Given the description of an element on the screen output the (x, y) to click on. 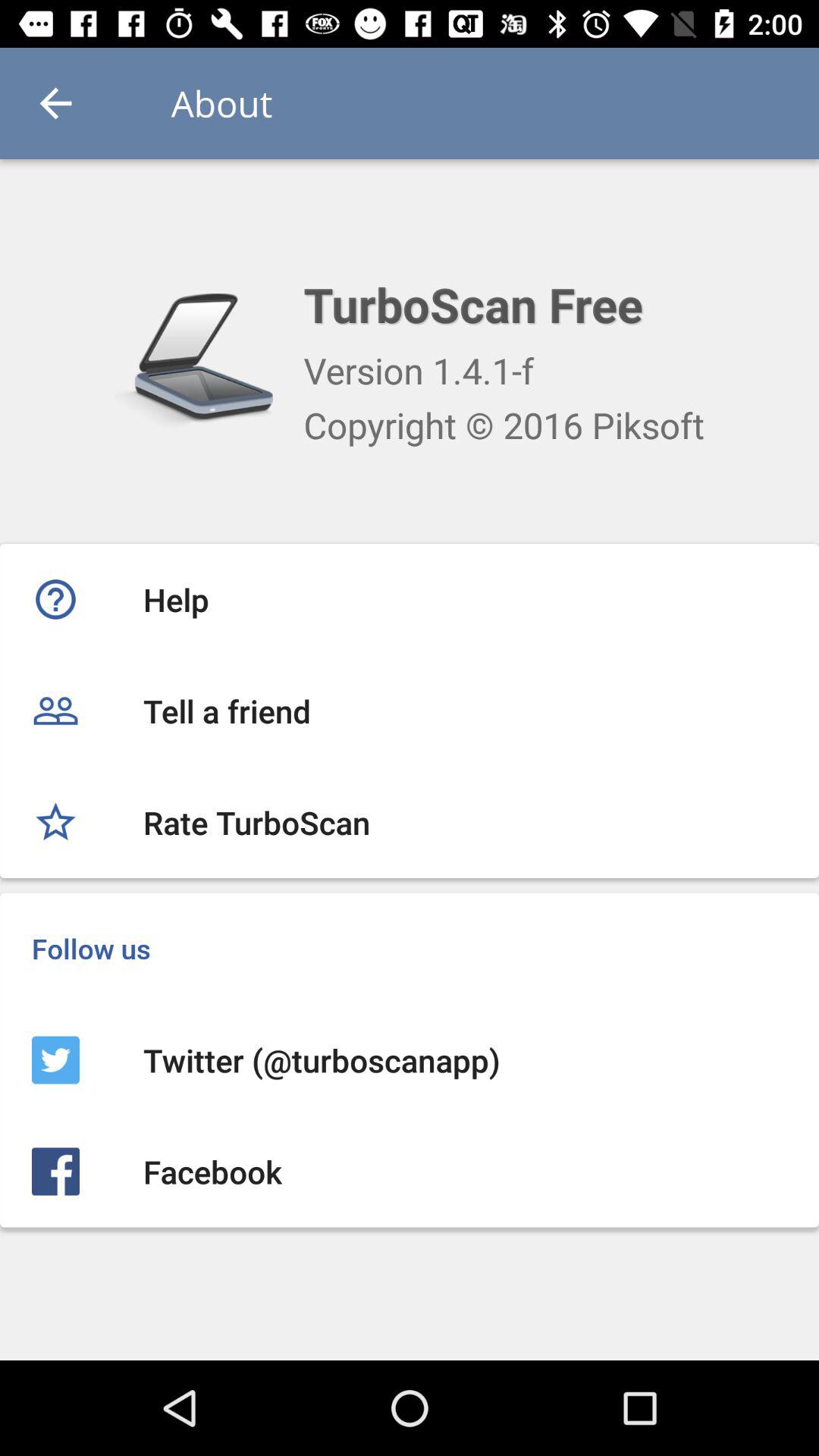
scroll to the rate turboscan icon (409, 822)
